Given the description of an element on the screen output the (x, y) to click on. 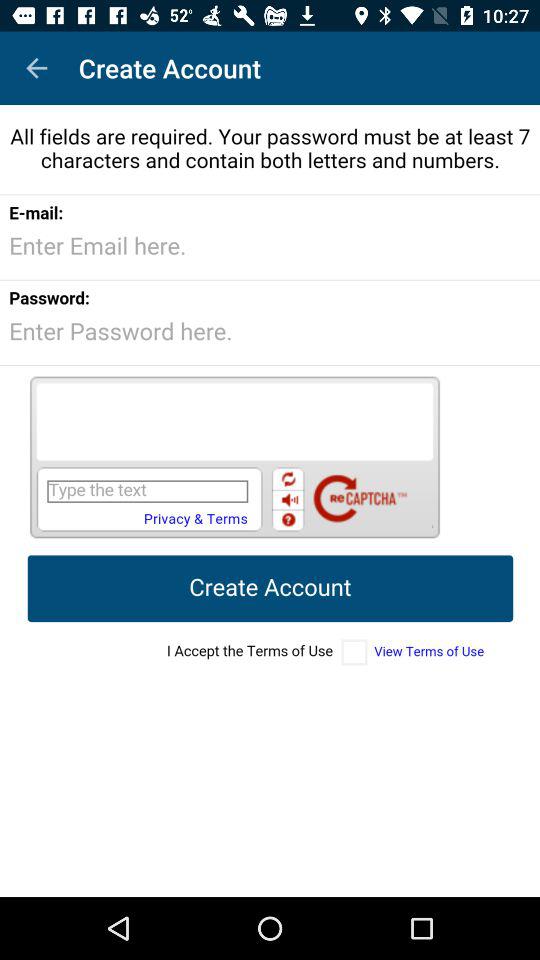
create account section (270, 501)
